Given the description of an element on the screen output the (x, y) to click on. 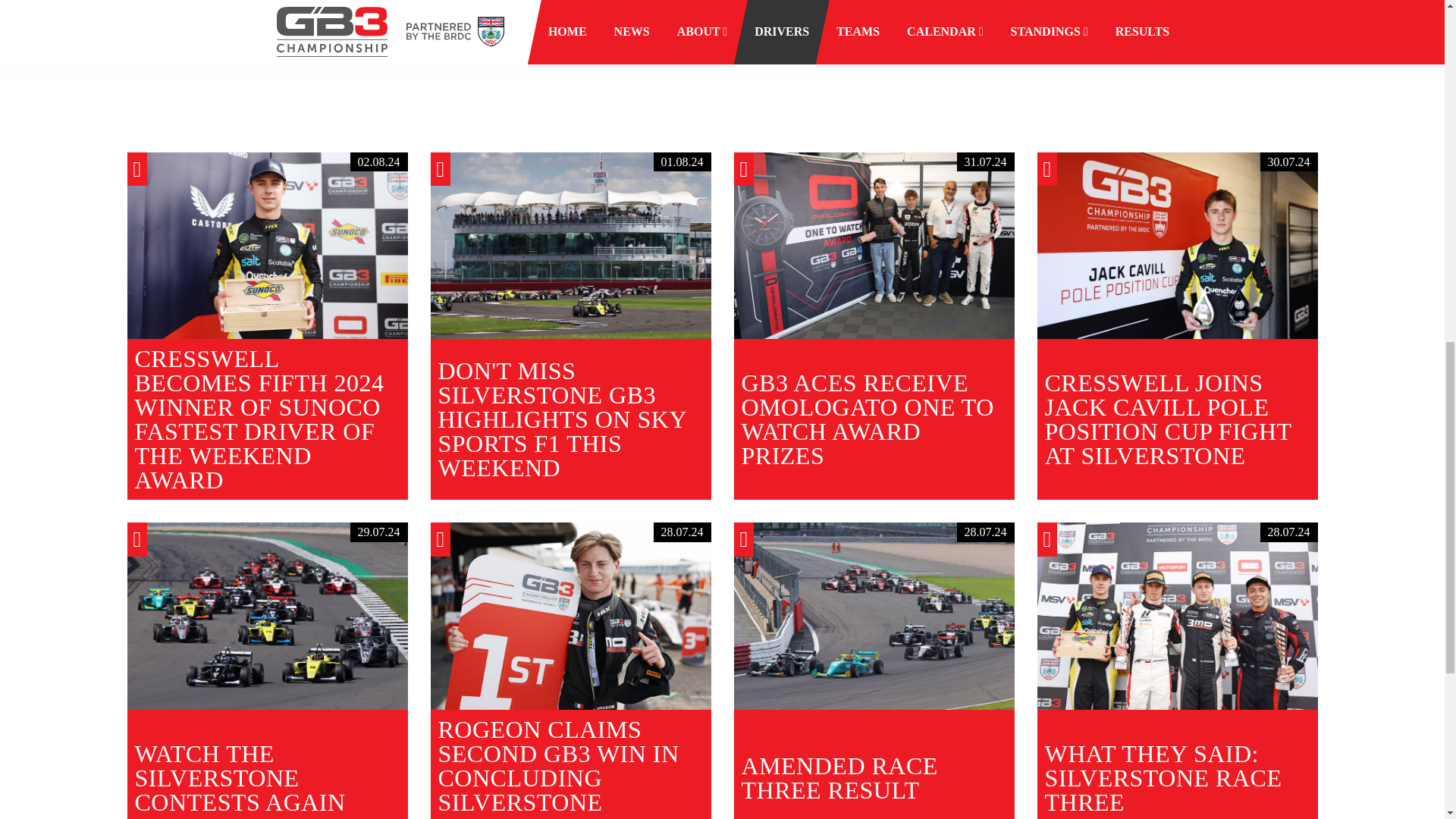
Watch the Silverstone contests again (267, 616)
GB3 aces receive Omologato One to Watch Award prizes (873, 245)
Amended race three result (873, 616)
What they said: Silverstone race three (1176, 616)
